Given the description of an element on the screen output the (x, y) to click on. 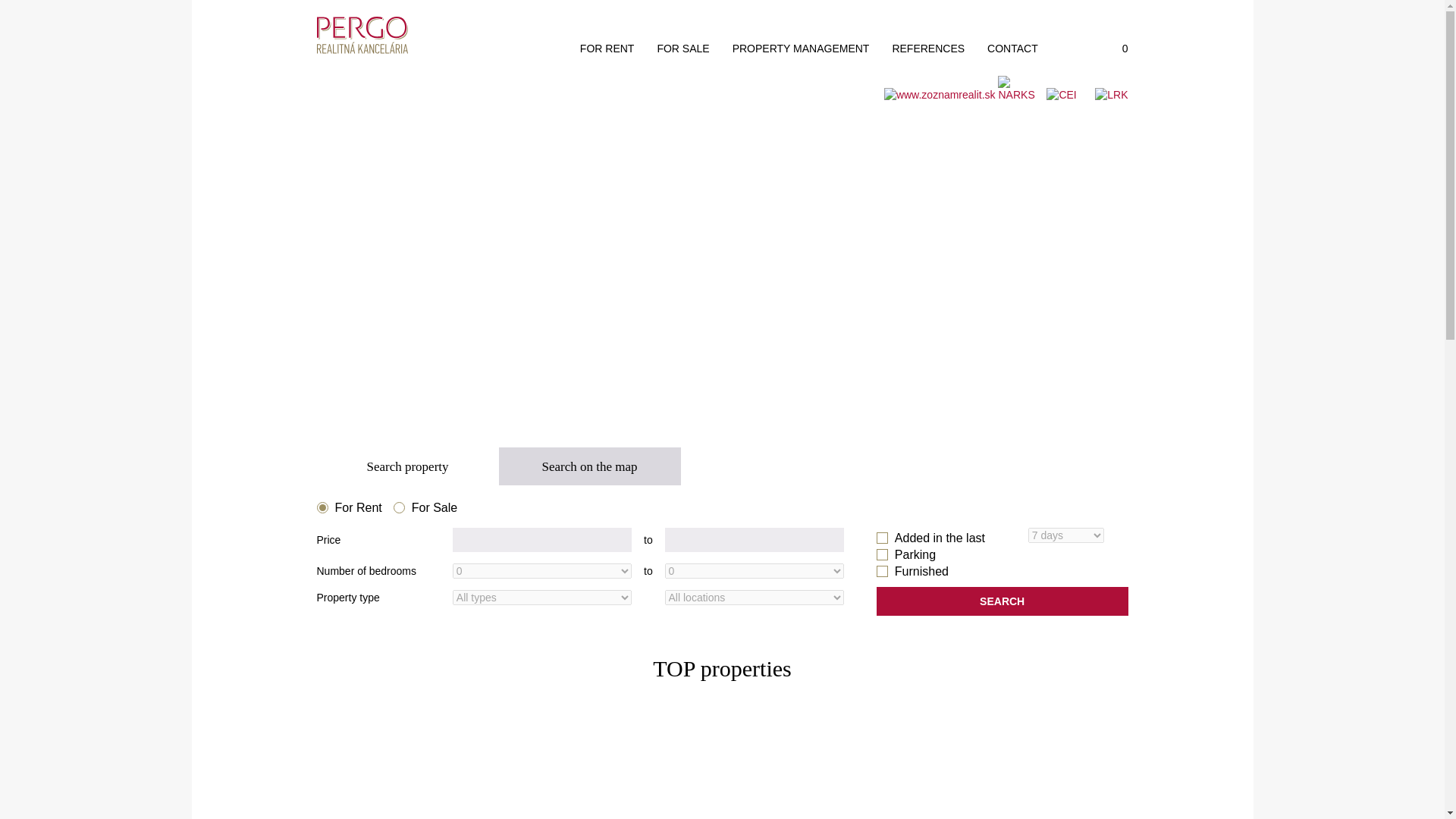
NARKS (1020, 98)
Slovensky  (1073, 49)
REFERENCES (927, 48)
FOR SALE (682, 48)
0 (1115, 48)
Pergo (362, 35)
Search on the map (590, 466)
Search property (408, 466)
PROPERTY MANAGEMENT (800, 48)
LRK (1110, 110)
CEI (1069, 110)
FOR RENT (607, 48)
Slovensky (1073, 49)
CONTACT (1012, 48)
SEARCH (1002, 601)
